Given the description of an element on the screen output the (x, y) to click on. 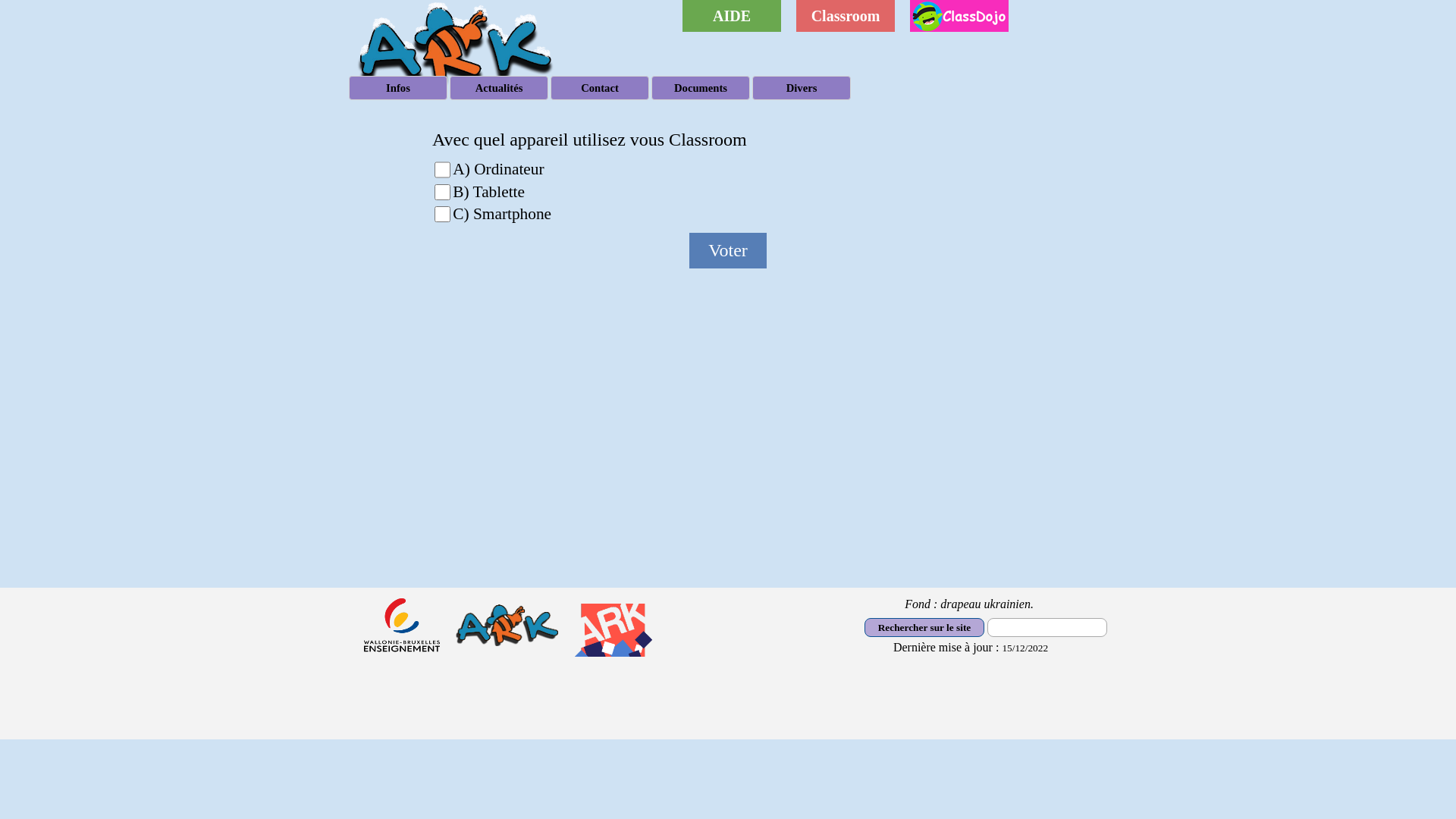
AIDE Element type: text (731, 15)
Contact Element type: text (599, 87)
Rechercher sur le site Element type: text (924, 627)
Infos Element type: text (397, 87)
Classroom Element type: text (845, 15)
Documents Element type: text (700, 87)
